Given the description of an element on the screen output the (x, y) to click on. 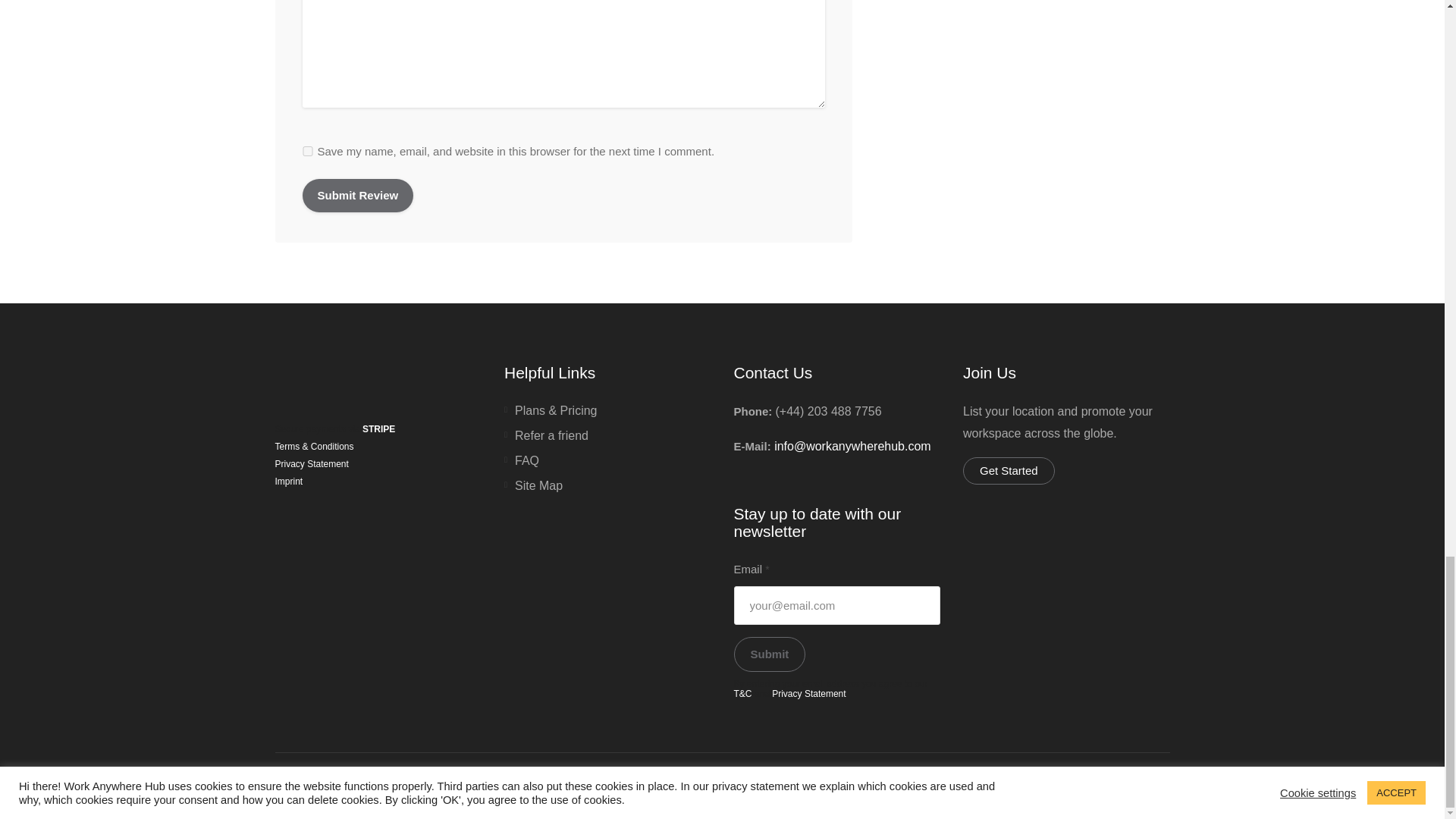
yes (307, 151)
Submit Review (357, 195)
Submit Review (357, 195)
